Given the description of an element on the screen output the (x, y) to click on. 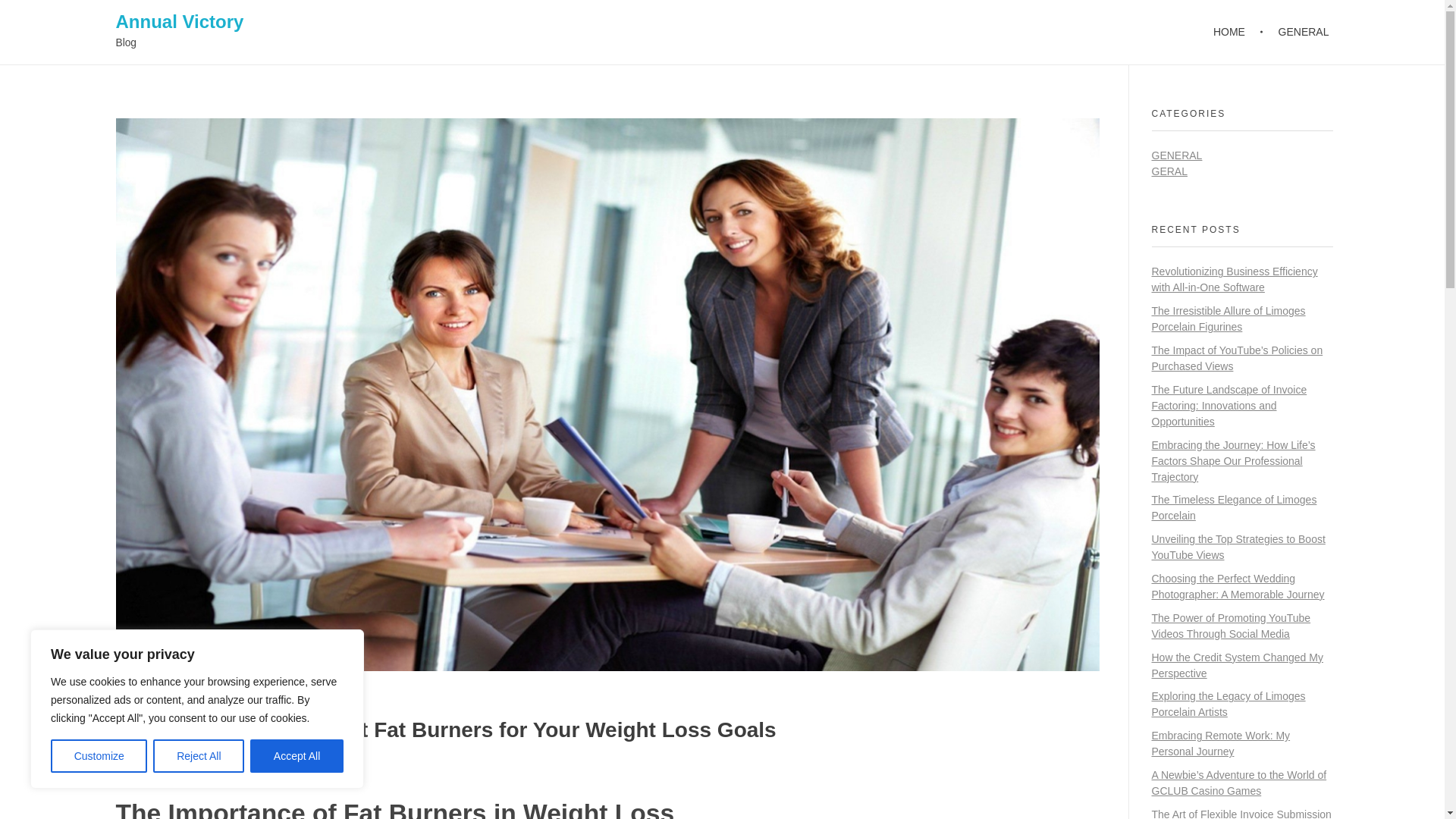
GENERAL (1295, 32)
Revolutionizing Business Efficiency with All-in-One Software (1234, 279)
Annual Victory (179, 21)
The Irresistible Allure of Limoges Porcelain Figurines (1227, 318)
Annual Victory (179, 21)
The Power of Promoting YouTube Videos Through Social Media (1230, 625)
GERAL (1168, 171)
The Timeless Elegance of Limoges Porcelain (1233, 507)
Unveiling the Top Strategies to Boost YouTube Views (1237, 547)
GENERAL (1176, 155)
View all posts in General (276, 770)
Accept All (296, 756)
Customize (98, 756)
